Given the description of an element on the screen output the (x, y) to click on. 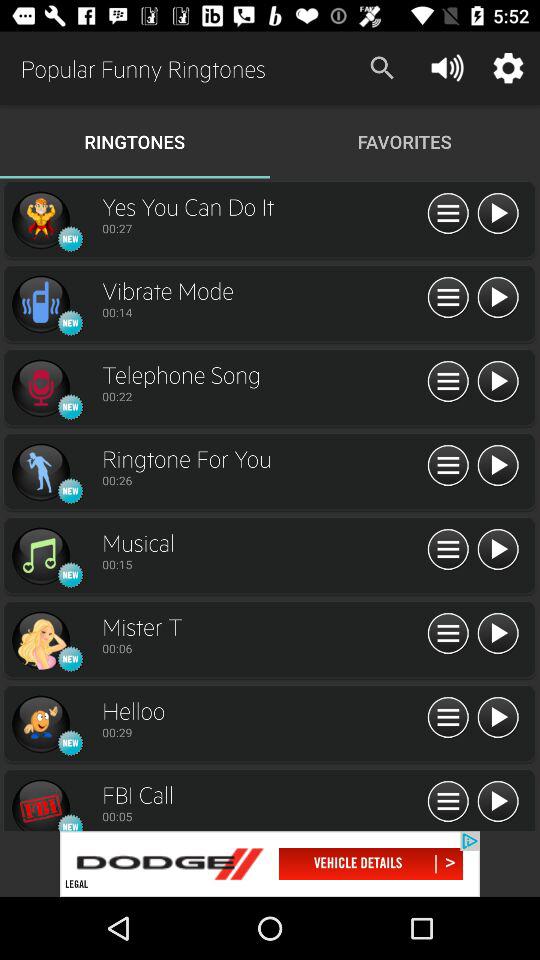
view options of ringtone (447, 297)
